Given the description of an element on the screen output the (x, y) to click on. 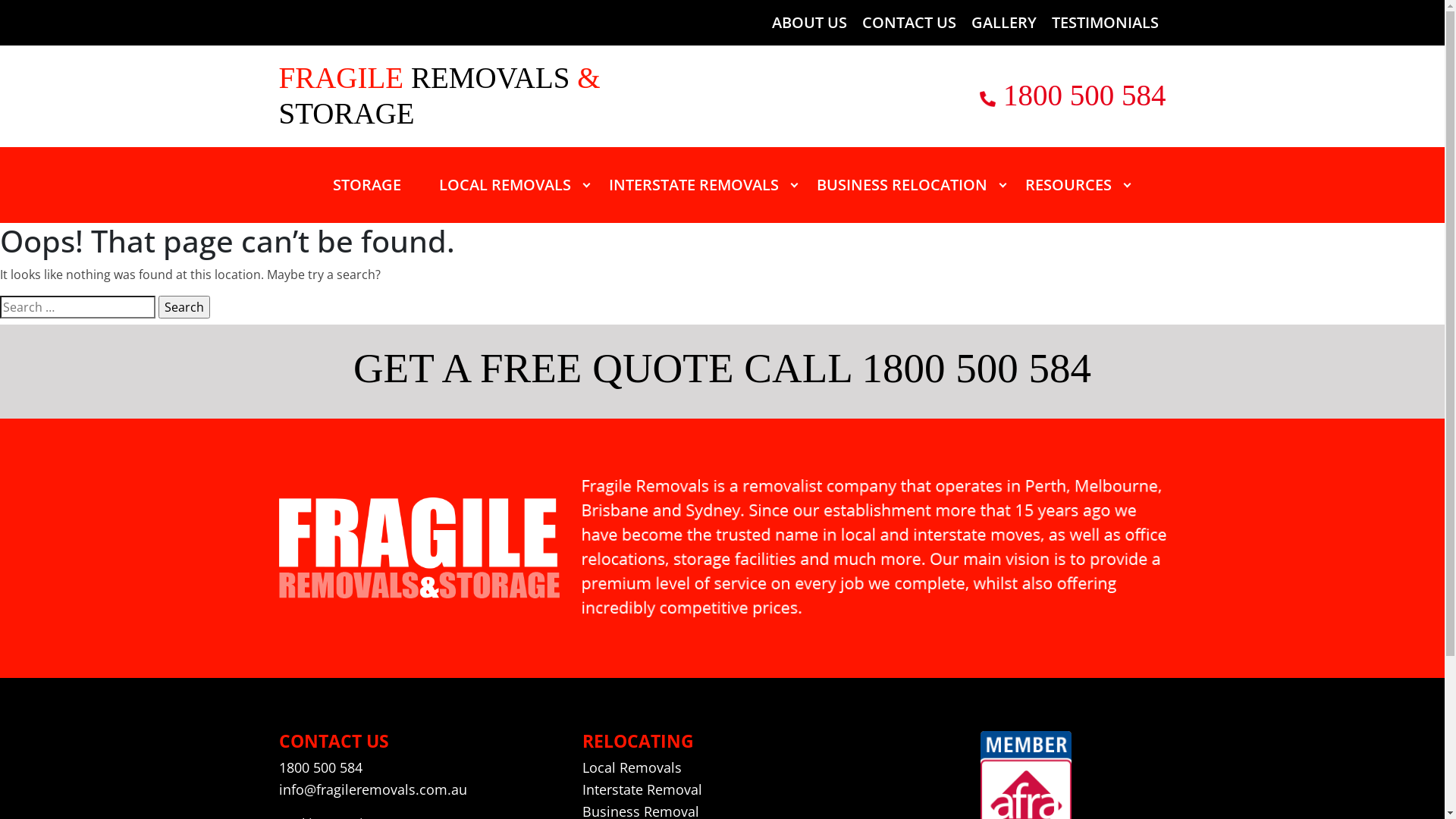
info@fragileremovals.com.au Element type: text (373, 789)
STORAGE Element type: text (366, 184)
GALLERY Element type: text (1002, 22)
BUSINESS RELOCATION Element type: text (901, 184)
LOCAL REMOVALS Element type: text (504, 184)
ABOUT US Element type: text (809, 22)
TESTIMONIALS Element type: text (1104, 22)
RESOURCES Element type: text (1068, 184)
1800 500 584 Element type: text (1084, 95)
INTERSTATE REMOVALS Element type: text (693, 184)
1800 500 584 Element type: text (320, 767)
Local Removals Element type: text (631, 767)
CONTACT US Element type: text (908, 22)
Search Element type: text (184, 306)
Interstate Removal Element type: text (642, 789)
FRAGILE REMOVALS & STORAGE Element type: text (457, 95)
